Given the description of an element on the screen output the (x, y) to click on. 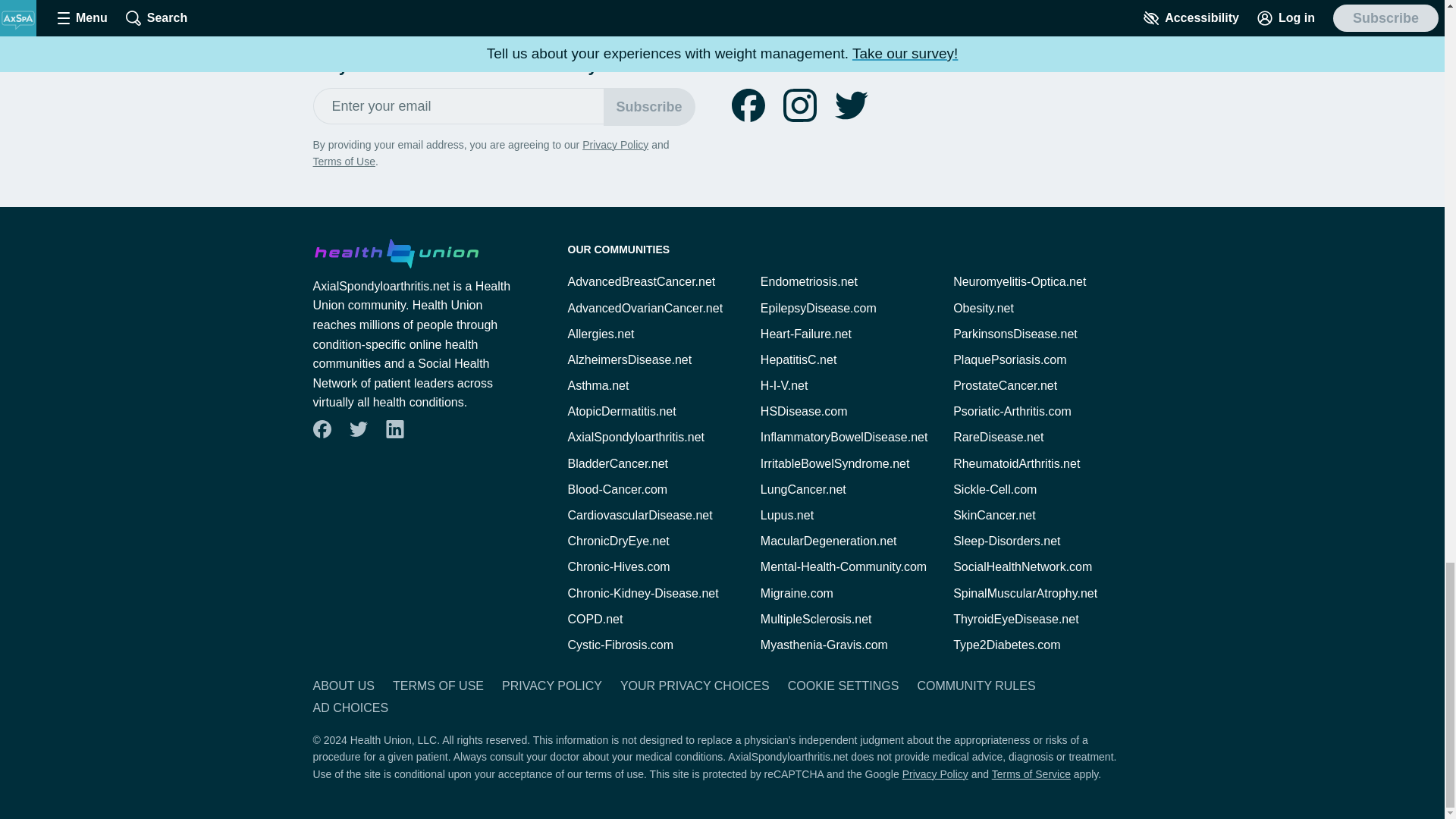
Privacy Policy (614, 144)
Follow us on twitter (850, 105)
Follow us on instagram (799, 105)
Follow us on instagram (799, 105)
Terms of Use (343, 161)
Follow us on facebook (747, 105)
Subscribe (649, 106)
Follow us on facebook (747, 105)
Follow us on facebook (320, 428)
Follow us on twitter (357, 428)
Follow us on twitter (850, 105)
Follow us on facebook (321, 429)
